Given the description of an element on the screen output the (x, y) to click on. 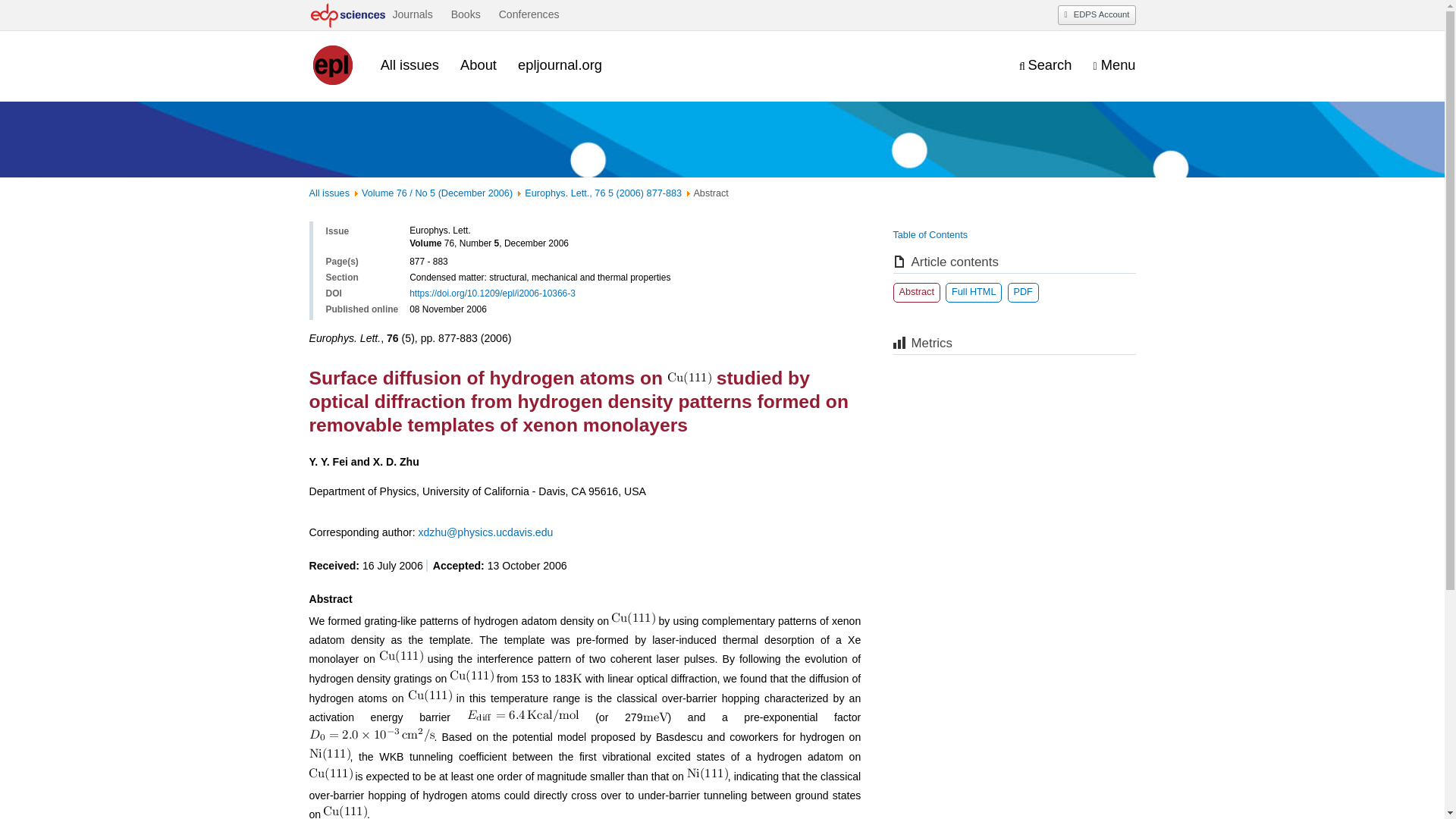
About (478, 65)
All issues (409, 65)
Abstract (916, 292)
Display the search engine (1045, 66)
Menu (1114, 66)
Conferences (529, 14)
Journal homepage (333, 65)
All issues (328, 193)
Journals (411, 14)
Full HTML (972, 292)
epljournal.org (560, 65)
Books (465, 14)
PDF (1022, 292)
